Given the description of an element on the screen output the (x, y) to click on. 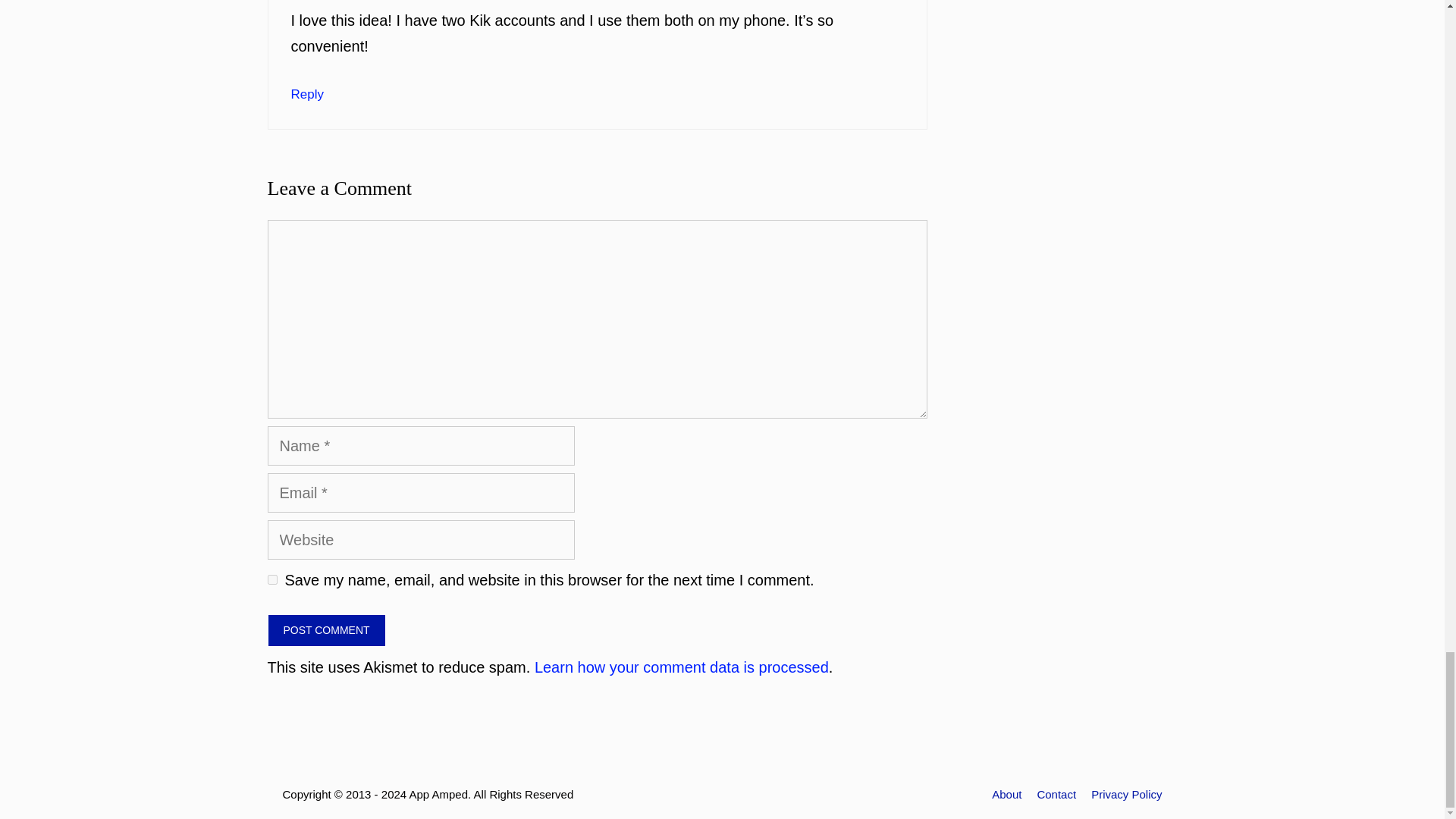
Reply (307, 93)
Post Comment (325, 630)
Post Comment (325, 630)
Learn how your comment data is processed (681, 667)
yes (271, 579)
